Given the description of an element on the screen output the (x, y) to click on. 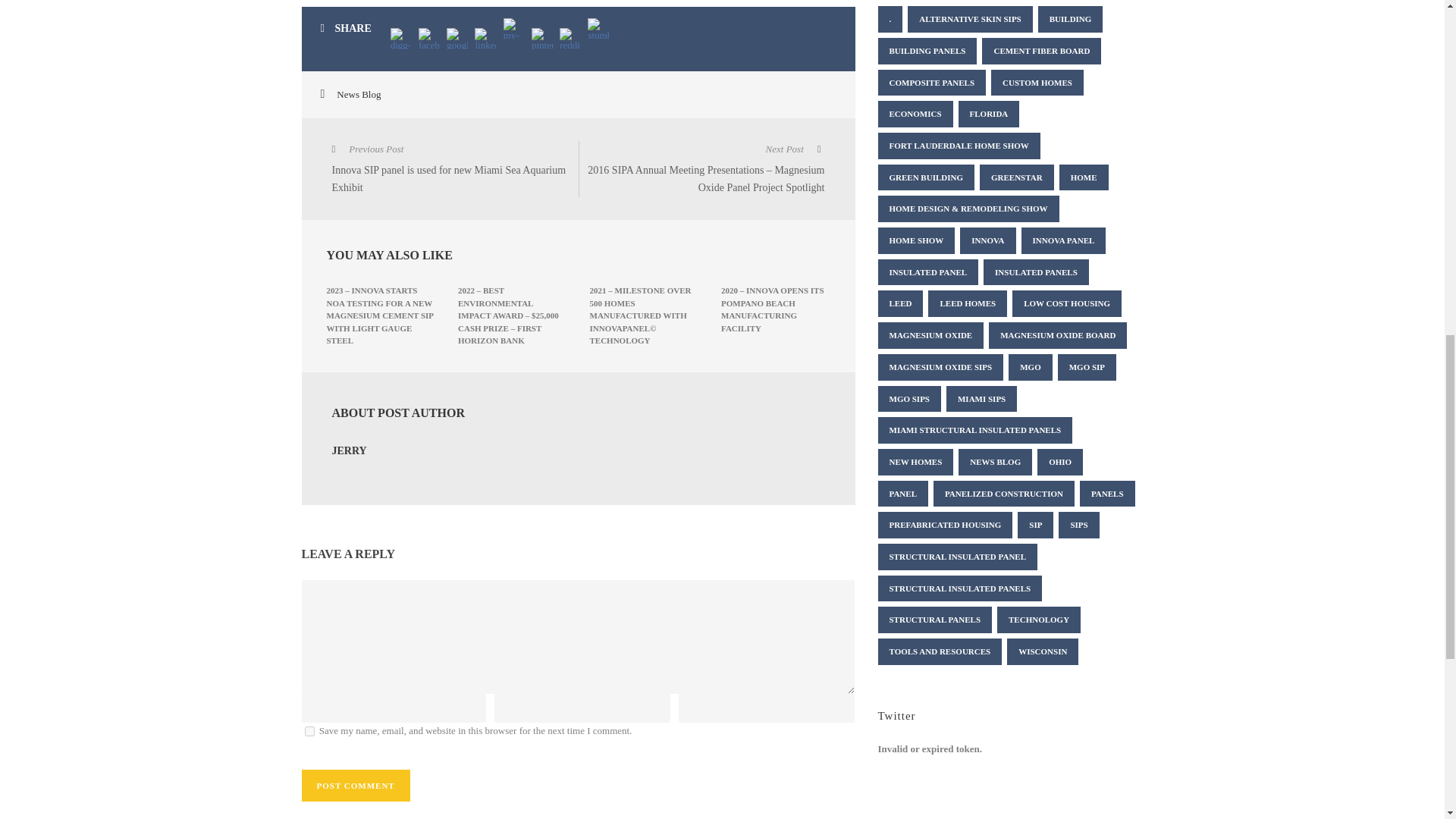
Post Comment (355, 785)
yes (309, 731)
Posts by jerry (348, 450)
